Given the description of an element on the screen output the (x, y) to click on. 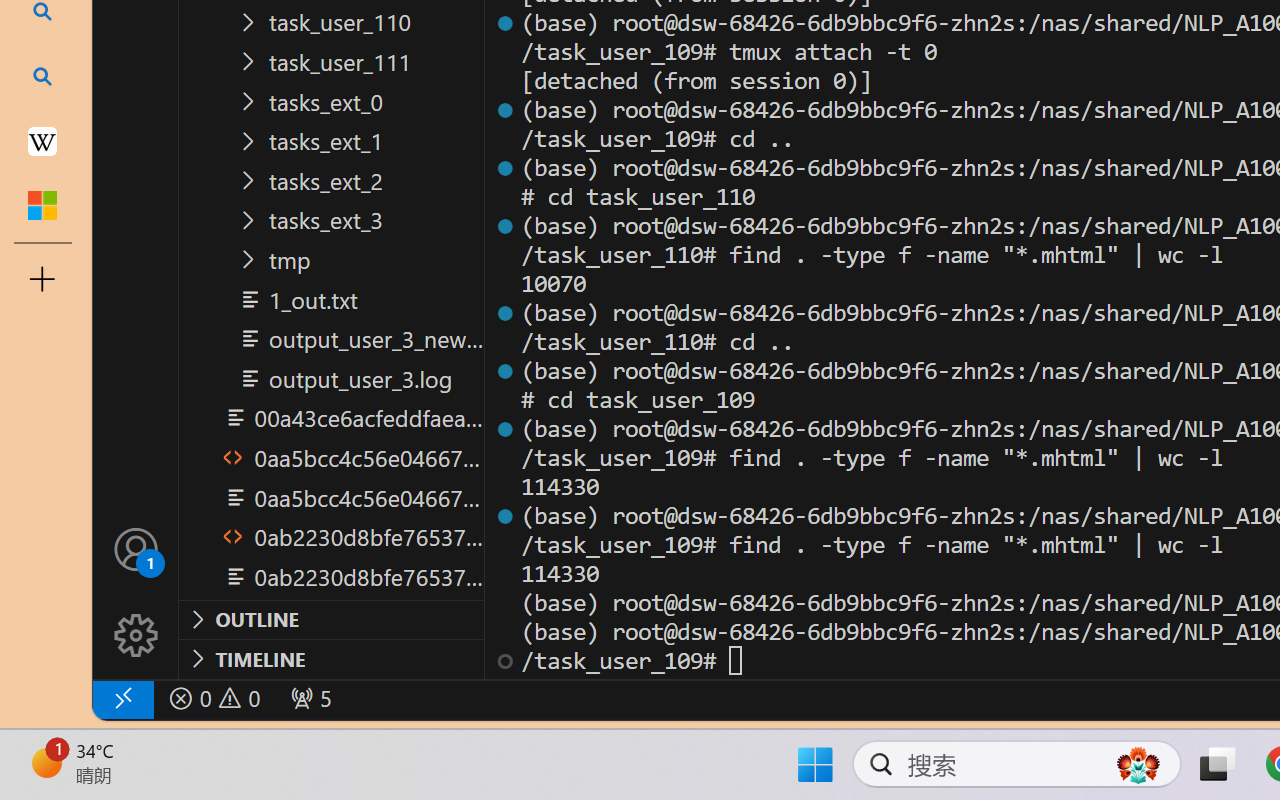
Manage (135, 635)
